Given the description of an element on the screen output the (x, y) to click on. 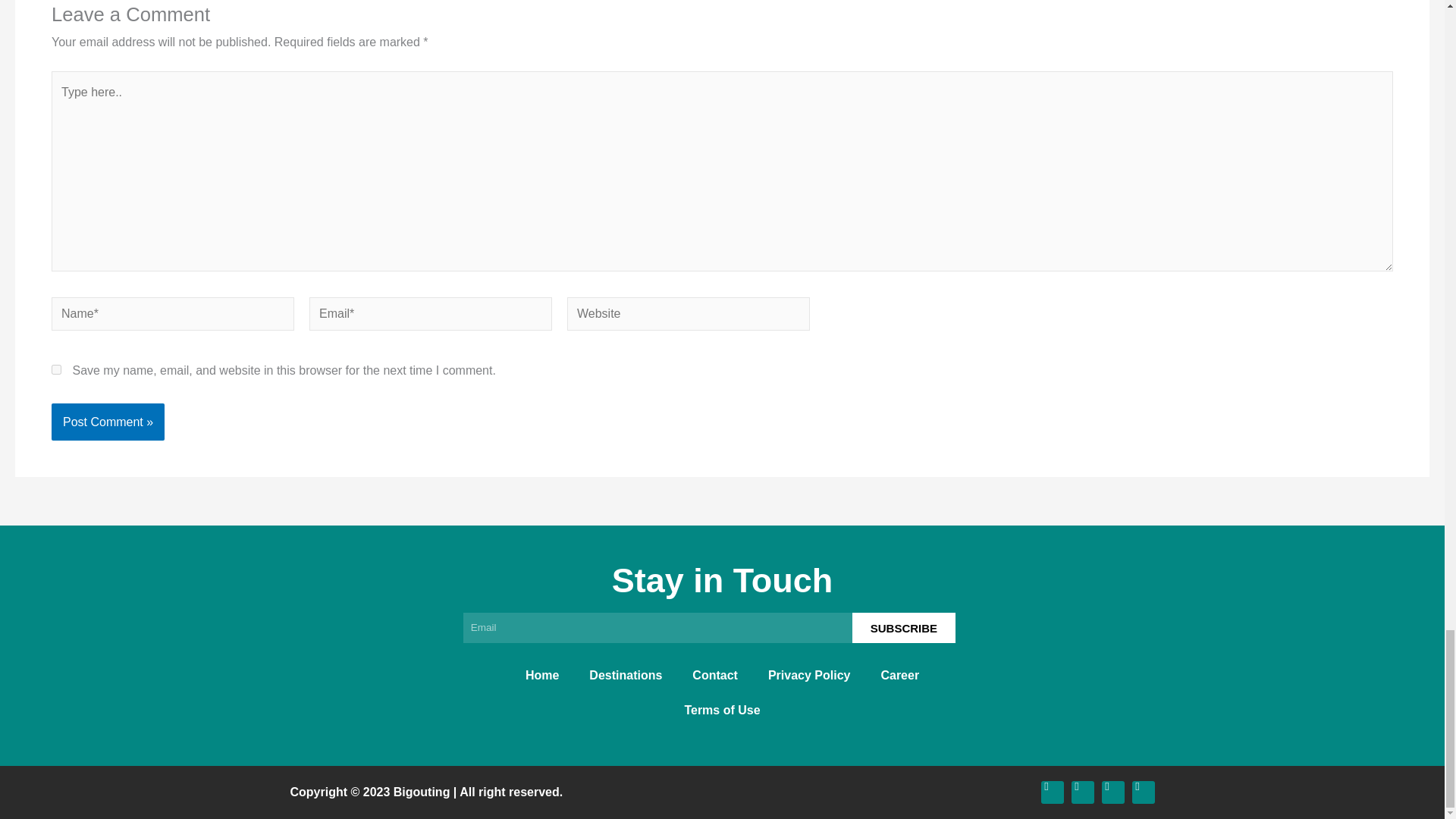
yes (55, 369)
